Given the description of an element on the screen output the (x, y) to click on. 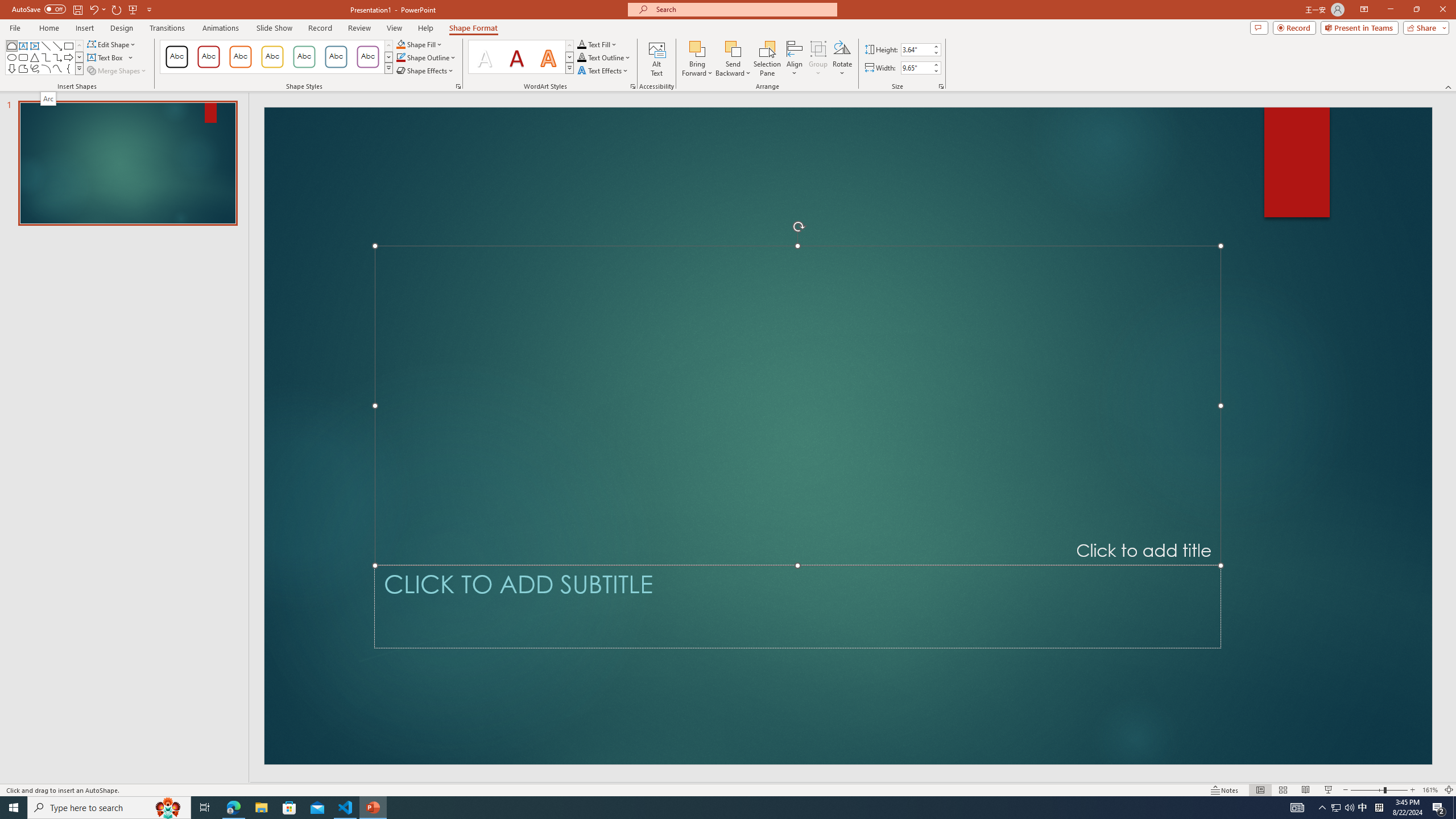
Send Backward (733, 48)
Draw Horizontal Text Box (105, 56)
Text Outline RGB(0, 0, 0) (581, 56)
